Given the description of an element on the screen output the (x, y) to click on. 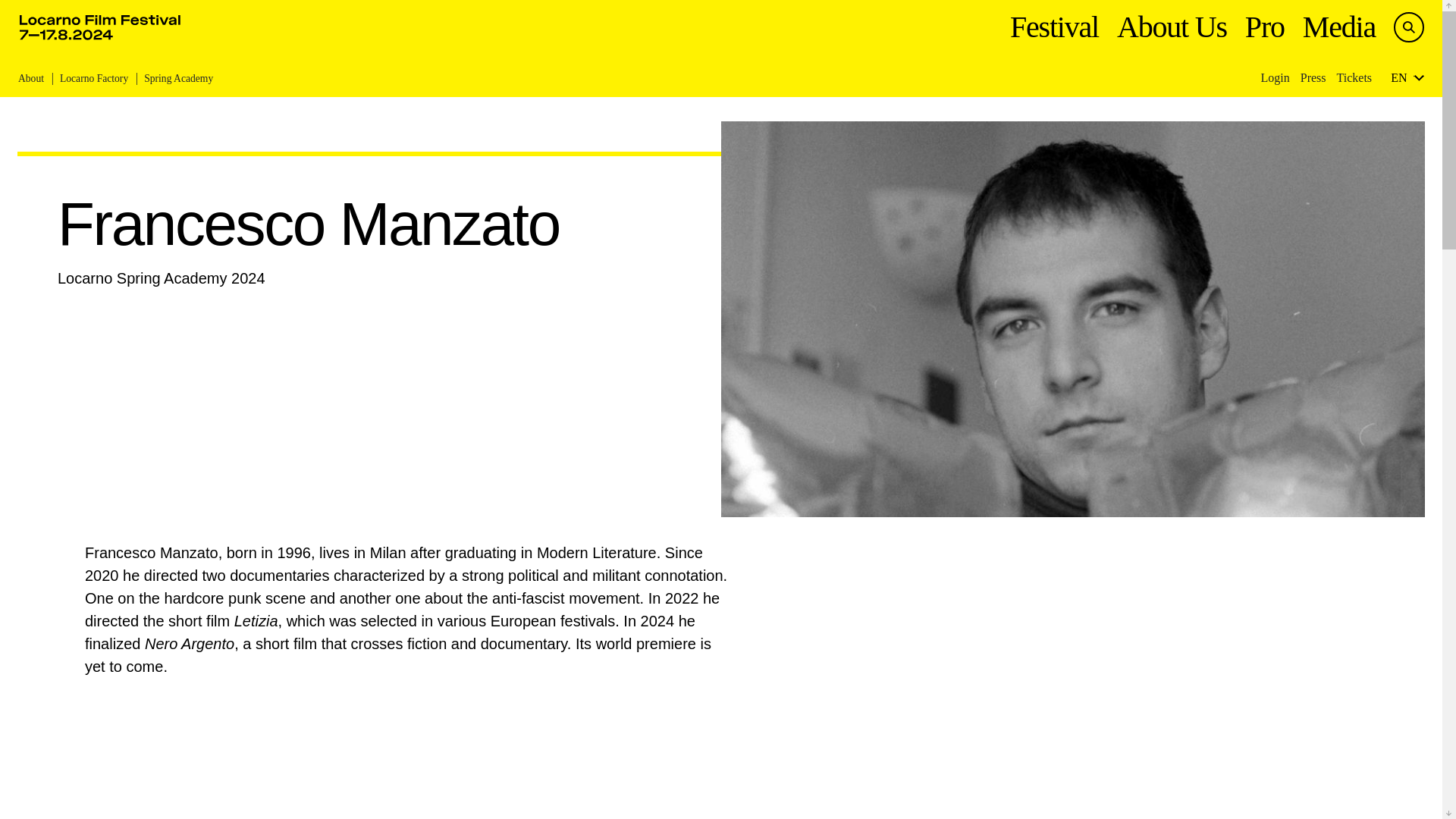
home (99, 27)
